Given the description of an element on the screen output the (x, y) to click on. 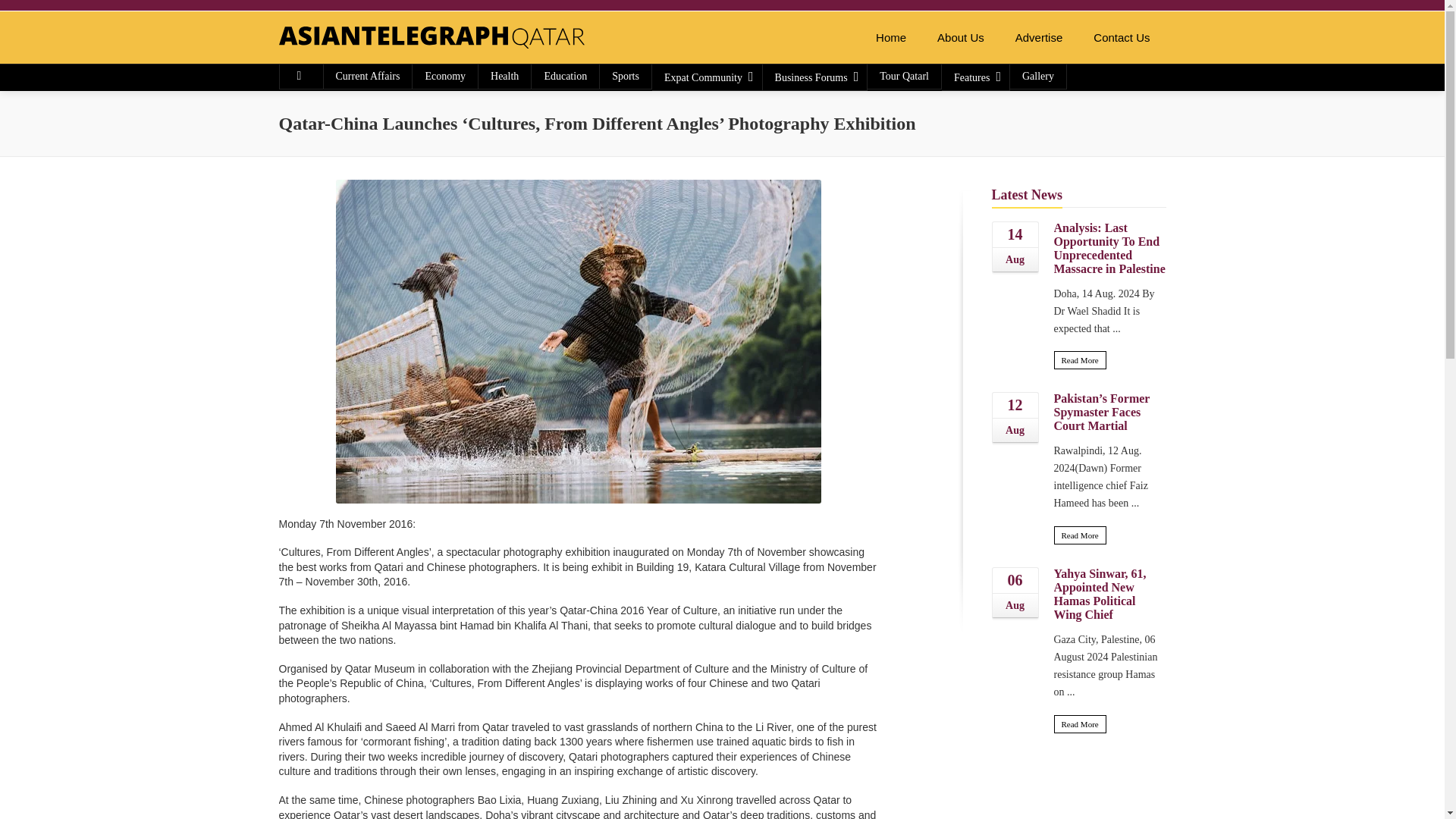
Features (975, 77)
Home (890, 37)
Sports (624, 76)
About Us (959, 37)
Tour Qatarl (903, 76)
Advertise (1039, 37)
Economy (444, 76)
Current Affairs (367, 76)
Expat Community (706, 77)
